Given the description of an element on the screen output the (x, y) to click on. 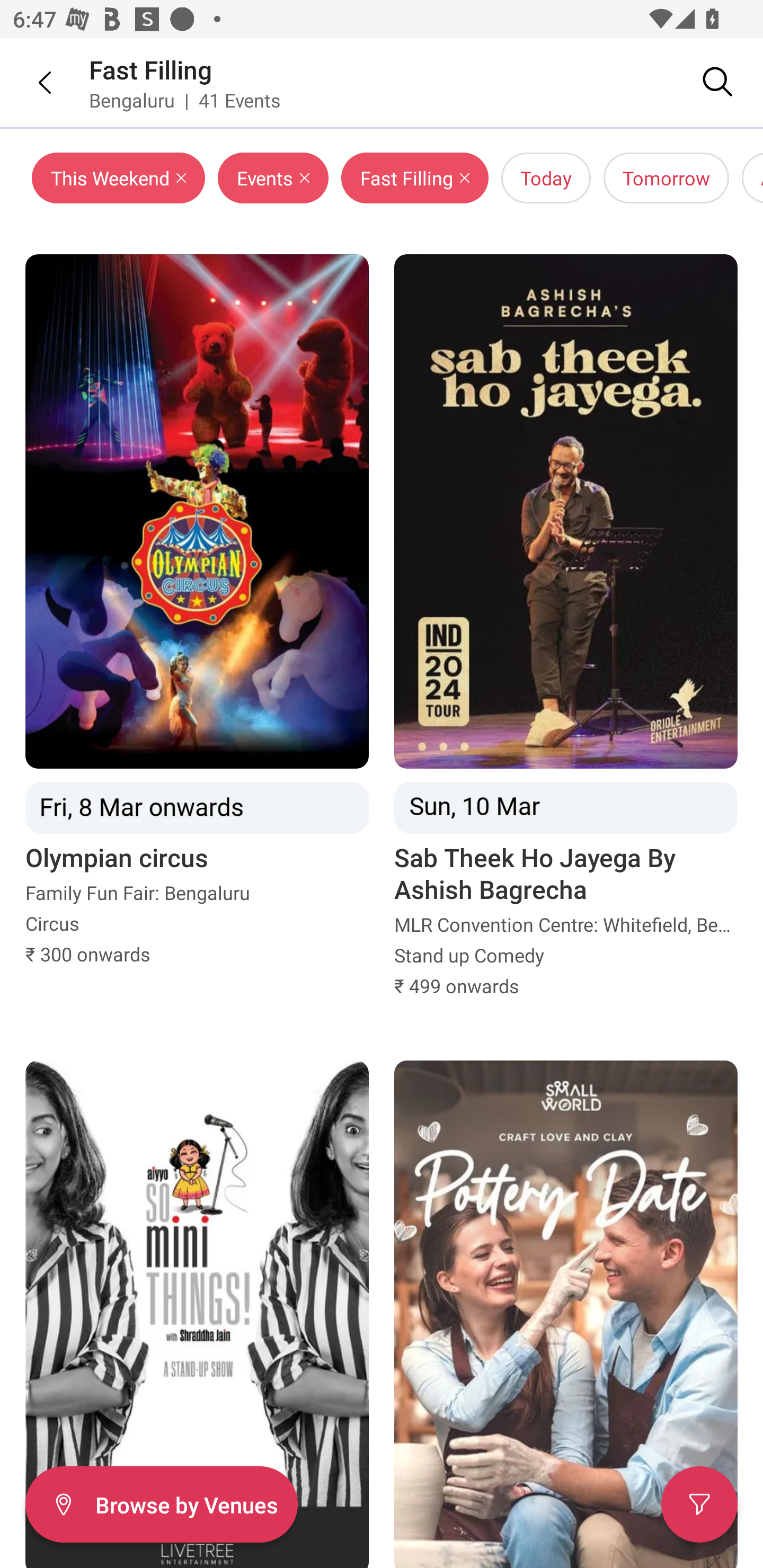
Back (31, 82)
Fast Filling (150, 68)
Bengaluru  |  41 Events (185, 99)
This Weekend Close (118, 177)
Events Close (272, 177)
Fast Filling Close (414, 177)
Today (545, 177)
Tomorrow (666, 177)
Filter Browse by Venues (161, 1504)
Filter (699, 1504)
